Given the description of an element on the screen output the (x, y) to click on. 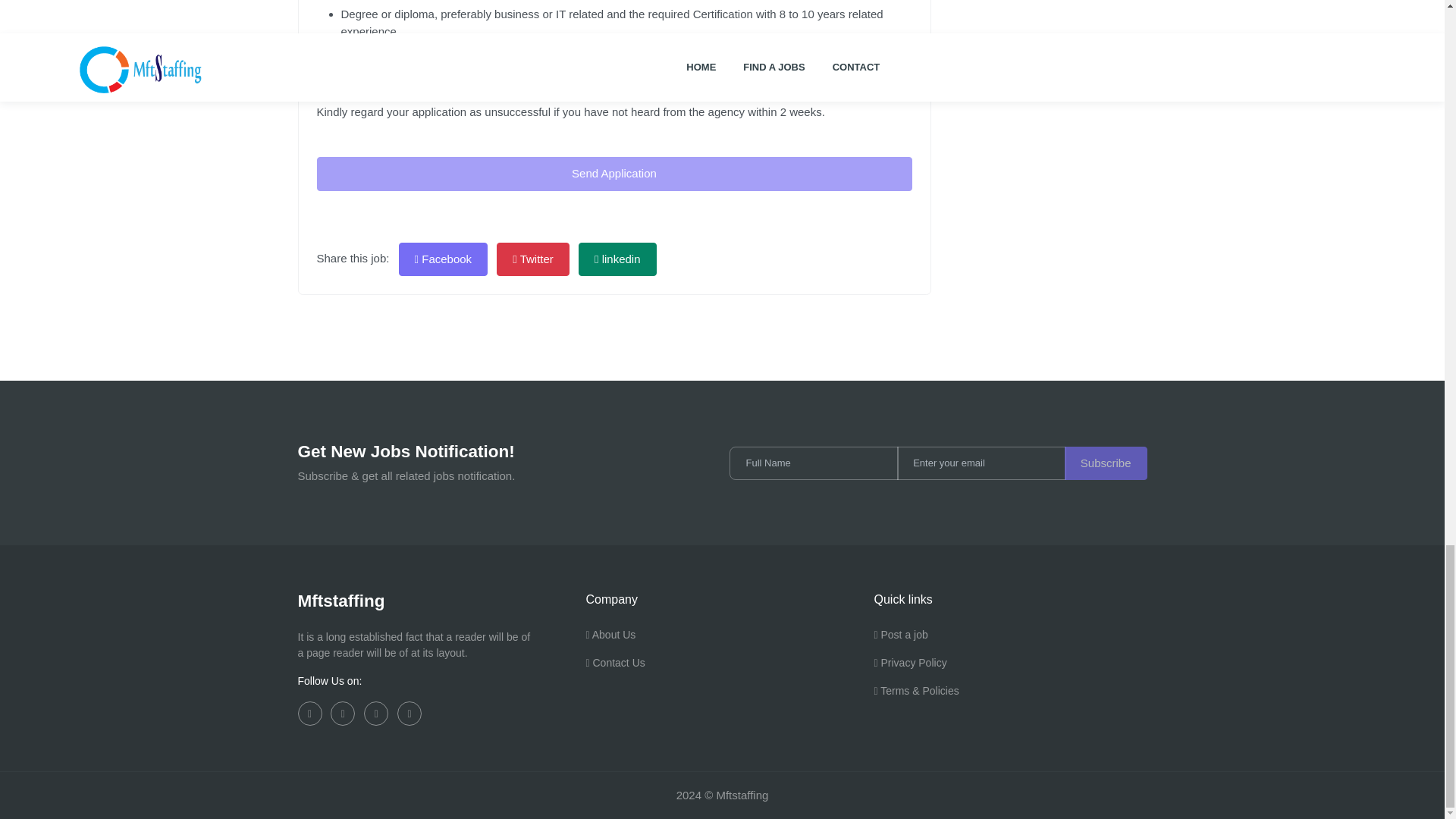
Send Application (614, 173)
Subscribe (1105, 462)
Post a job (900, 640)
Contact Us (615, 669)
Facebook (442, 259)
Twitter (532, 259)
linkedin (617, 259)
About Us (609, 640)
Privacy Policy (909, 669)
